Given the description of an element on the screen output the (x, y) to click on. 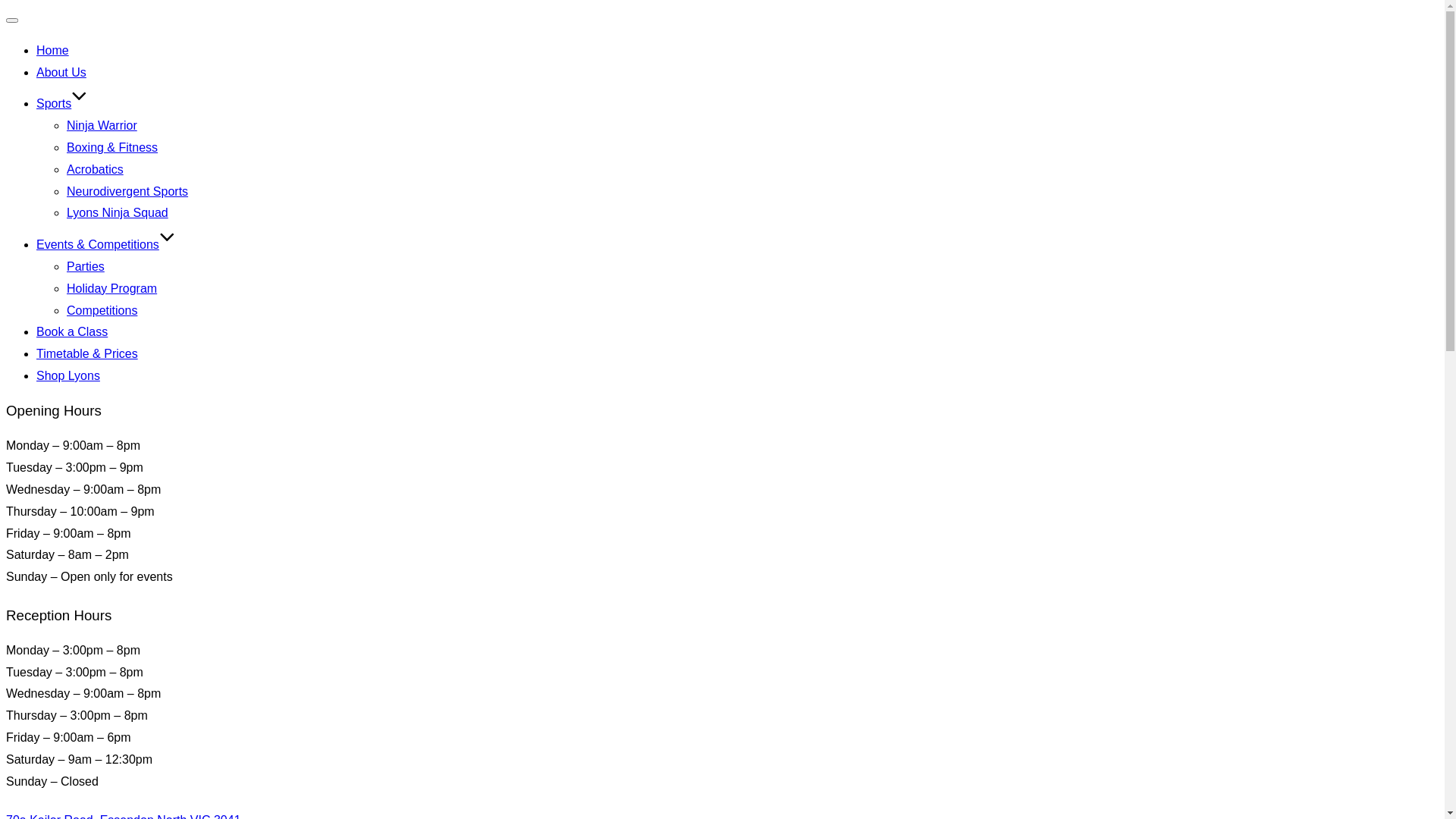
Holiday Program Element type: text (111, 288)
Home Element type: text (52, 49)
Timetable & Prices Element type: text (87, 353)
Competitions Element type: text (101, 310)
Lyons Ninja Squad Element type: text (117, 212)
Boxing & Fitness Element type: text (111, 147)
Sports Element type: text (61, 103)
About Us Element type: text (61, 71)
Events & Competitions Element type: text (105, 244)
Parties Element type: text (85, 266)
Acrobatics Element type: text (94, 169)
Ninja Warrior Element type: text (101, 125)
Toggle navigation Element type: text (12, 20)
Book a Class Element type: text (71, 331)
Neurodivergent Sports Element type: text (127, 191)
Shop Lyons Element type: text (68, 375)
